Given the description of an element on the screen output the (x, y) to click on. 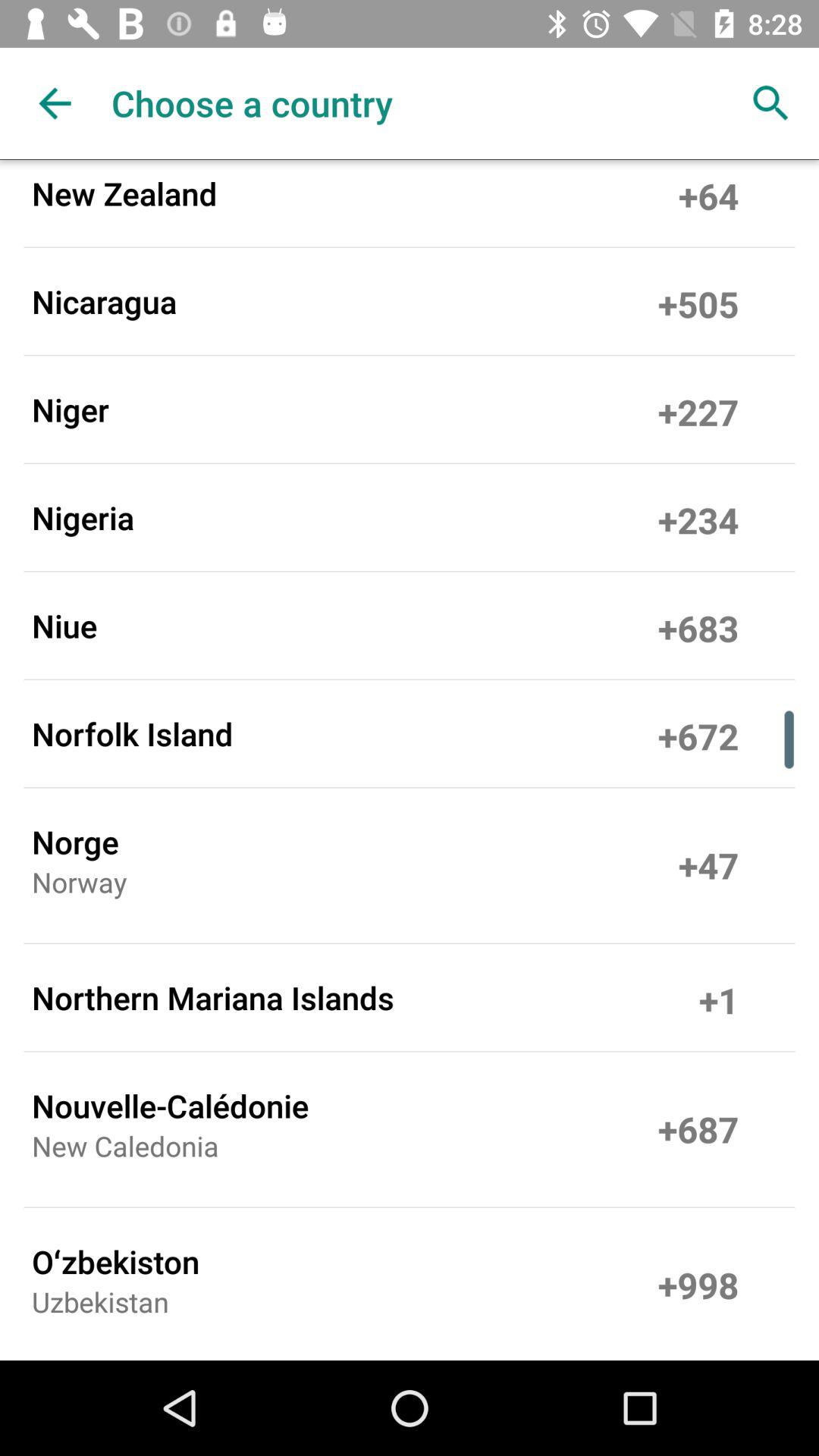
tap the item below norway icon (212, 997)
